Given the description of an element on the screen output the (x, y) to click on. 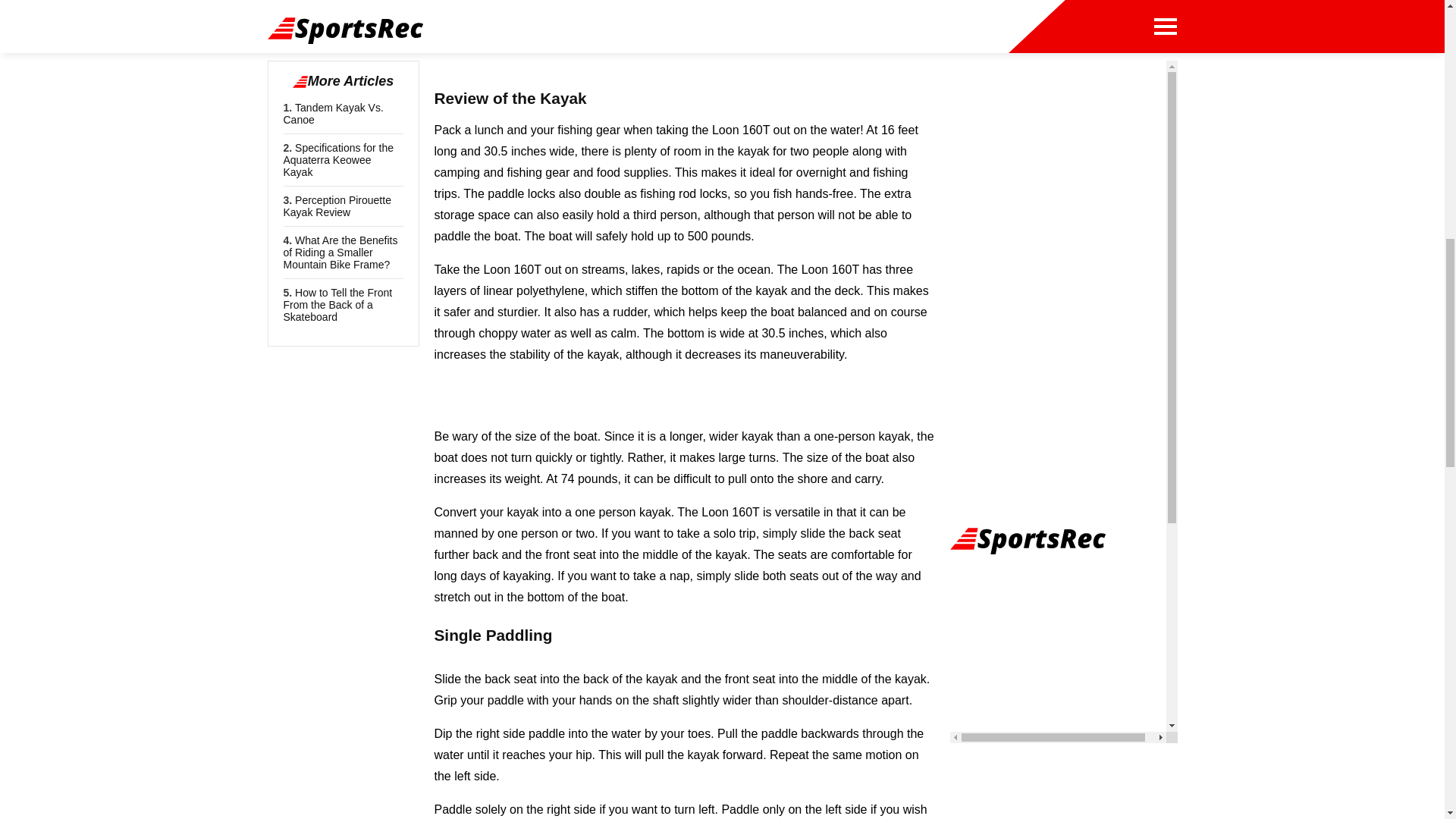
Advertisement (684, 35)
